Given the description of an element on the screen output the (x, y) to click on. 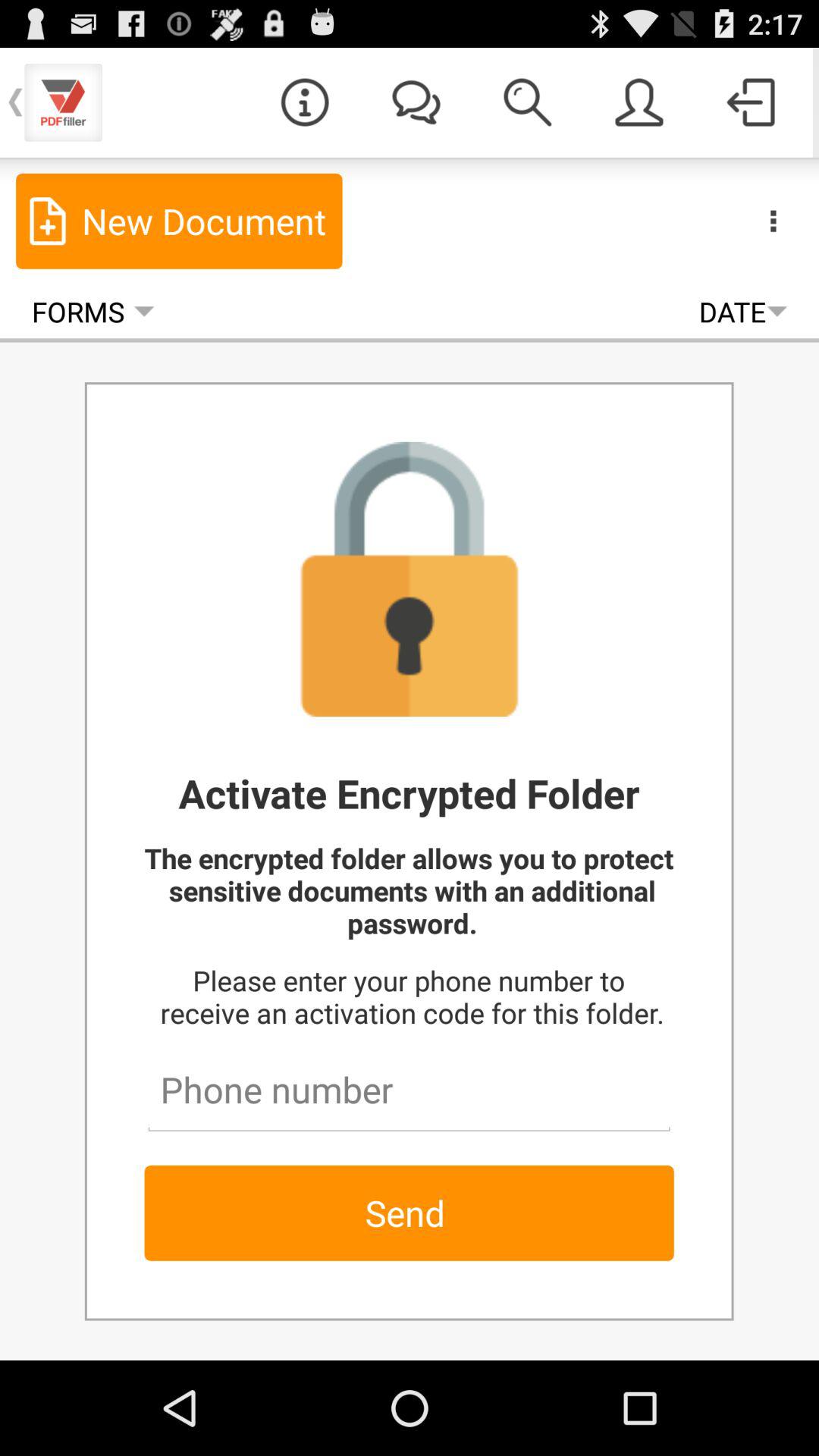
choose the icon next to forms (743, 311)
